Given the description of an element on the screen output the (x, y) to click on. 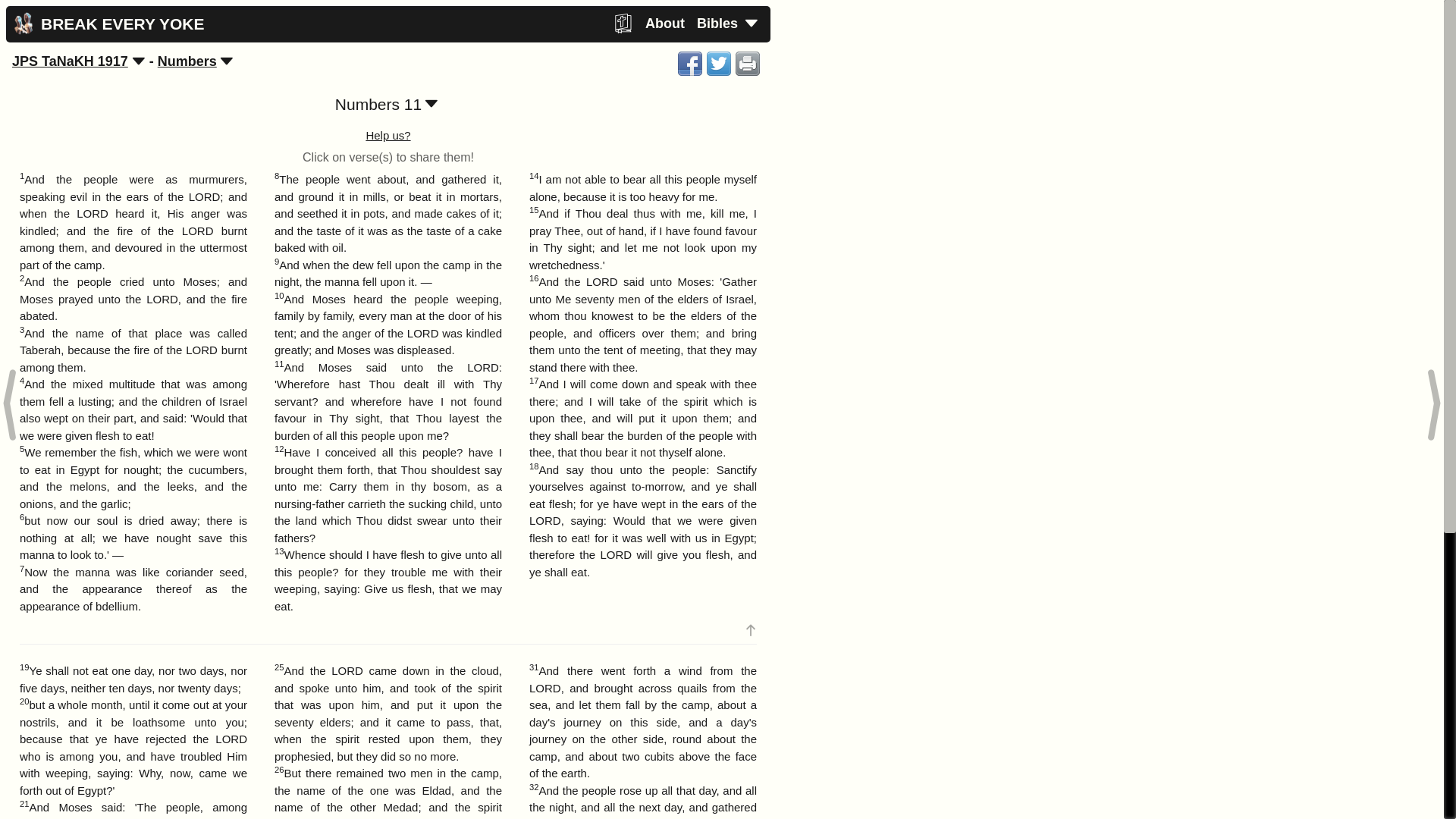
JPS TaNaKH 1917 (69, 61)
JPS TaNaKH 1917 (69, 61)
BREAK EVERY YOKE (105, 22)
Select Translation for Numbers 11 (138, 60)
Bibles by Country, Language or Translation (727, 23)
About (664, 23)
Click to learn more about Break Every Yoke (664, 23)
Bibles (727, 23)
Back to homepage of Break Every Yoke (105, 22)
